Given the description of an element on the screen output the (x, y) to click on. 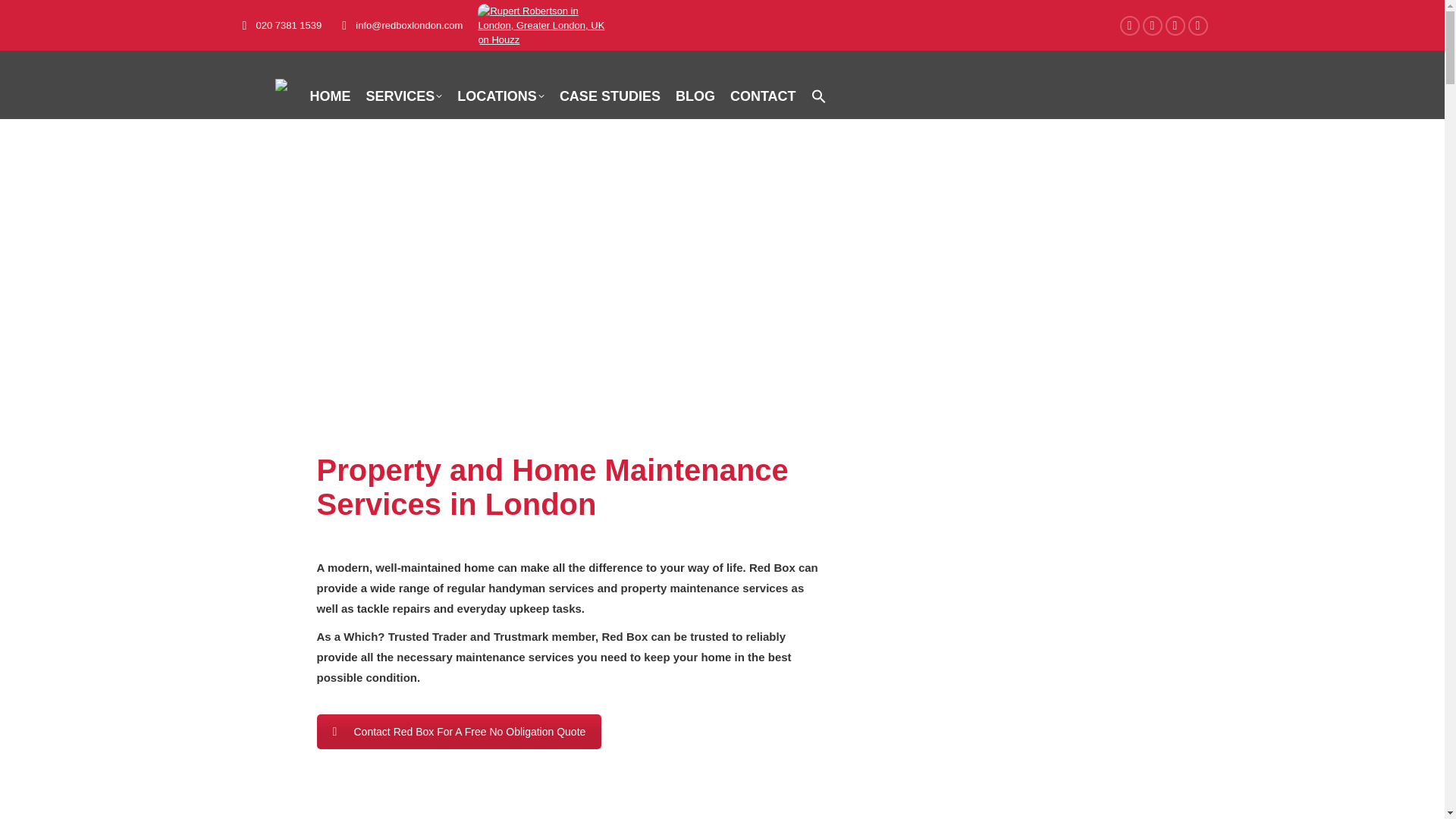
Linkedin page opens in new window (1198, 25)
SERVICES (403, 95)
Instagram page opens in new window (1175, 25)
CASE STUDIES (609, 95)
Instagram page opens in new window (1175, 25)
CONTACT (762, 95)
Facebook page opens in new window (1129, 25)
LOCATIONS (500, 95)
HOME (329, 95)
Linkedin page opens in new window (1198, 25)
